Given the description of an element on the screen output the (x, y) to click on. 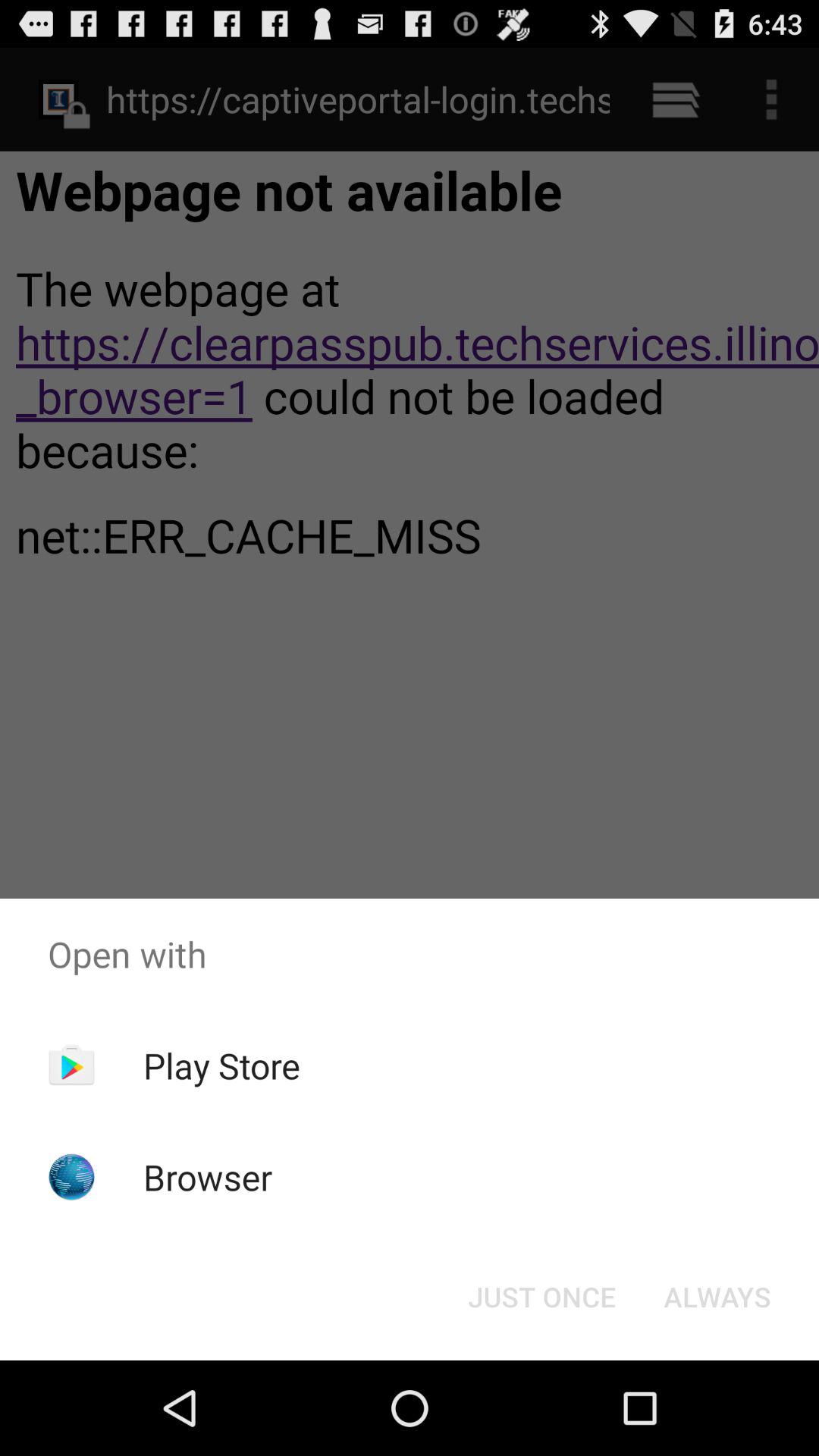
turn on app below open with icon (717, 1296)
